Given the description of an element on the screen output the (x, y) to click on. 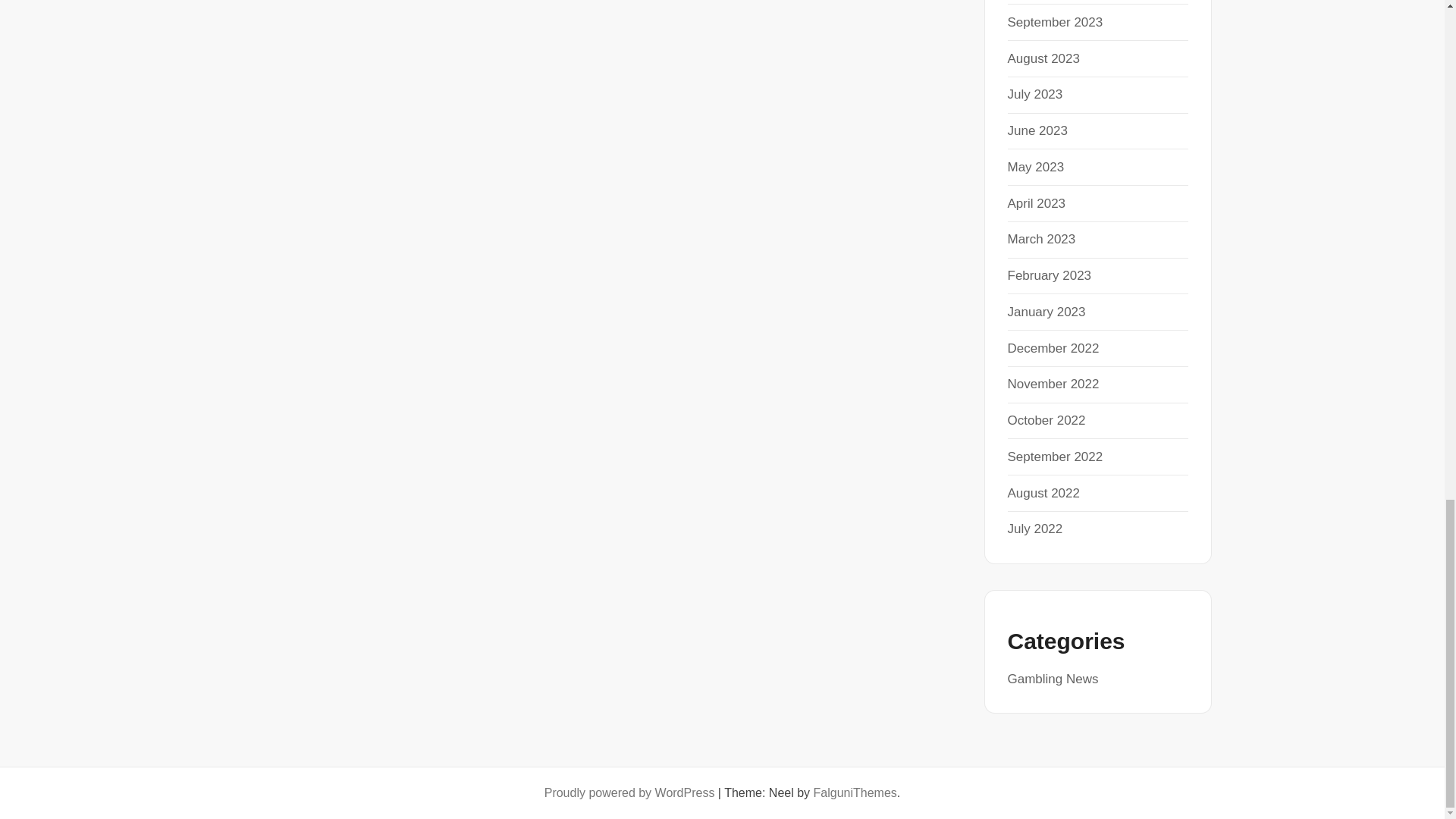
July 2023 (1034, 93)
January 2023 (1045, 311)
June 2023 (1037, 130)
May 2023 (1035, 166)
August 2023 (1042, 58)
March 2023 (1041, 238)
April 2023 (1036, 203)
February 2023 (1048, 275)
September 2023 (1054, 22)
